Given the description of an element on the screen output the (x, y) to click on. 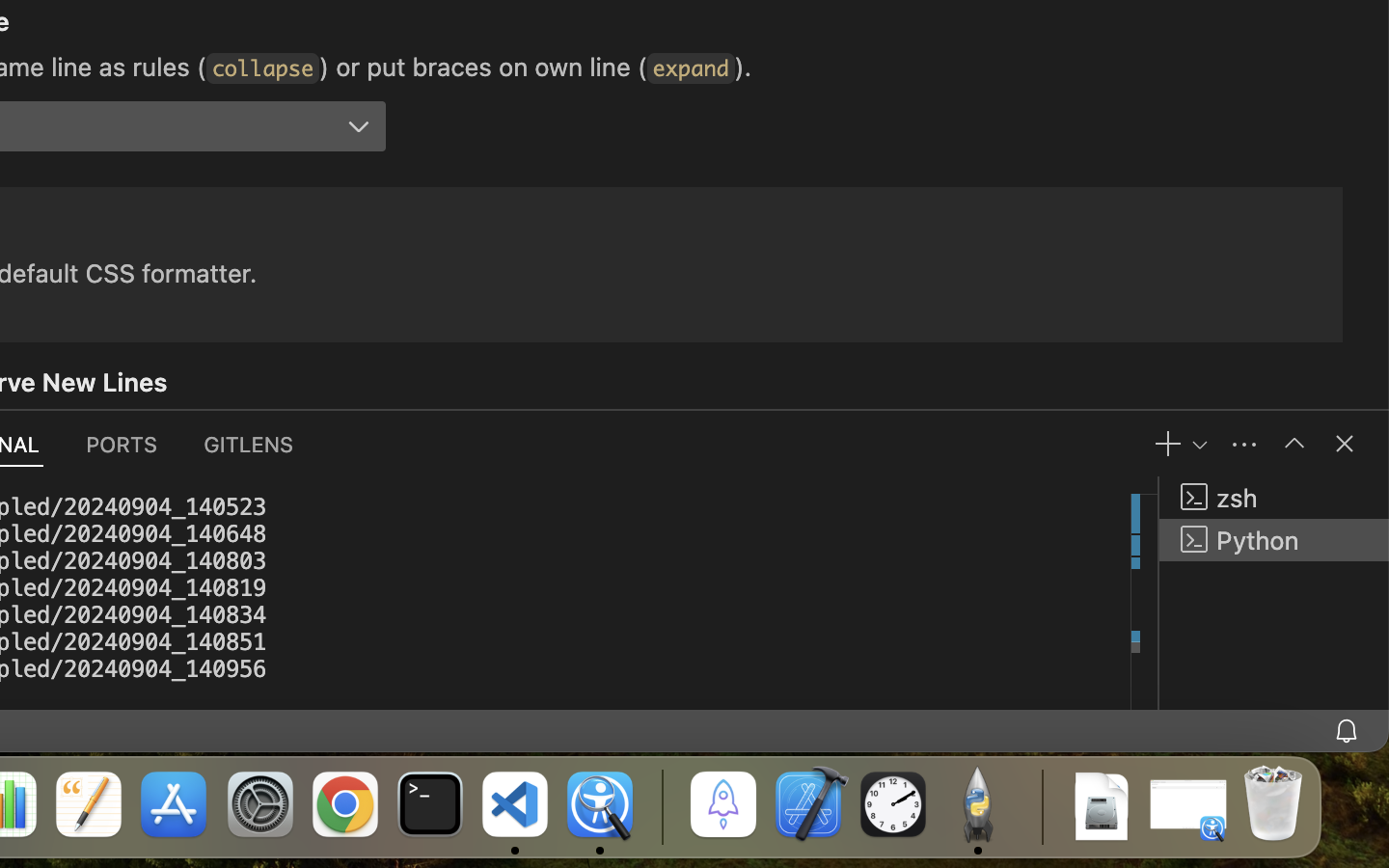
0.4285714328289032 Element type: AXDockItem (660, 805)
) or put braces on own line ( Element type: AXStaticText (484, 66)
0 GITLENS Element type: AXRadioButton (249, 443)
collapse Element type: AXStaticText (263, 68)
 Element type: AXCheckBox (1294, 443)
